Given the description of an element on the screen output the (x, y) to click on. 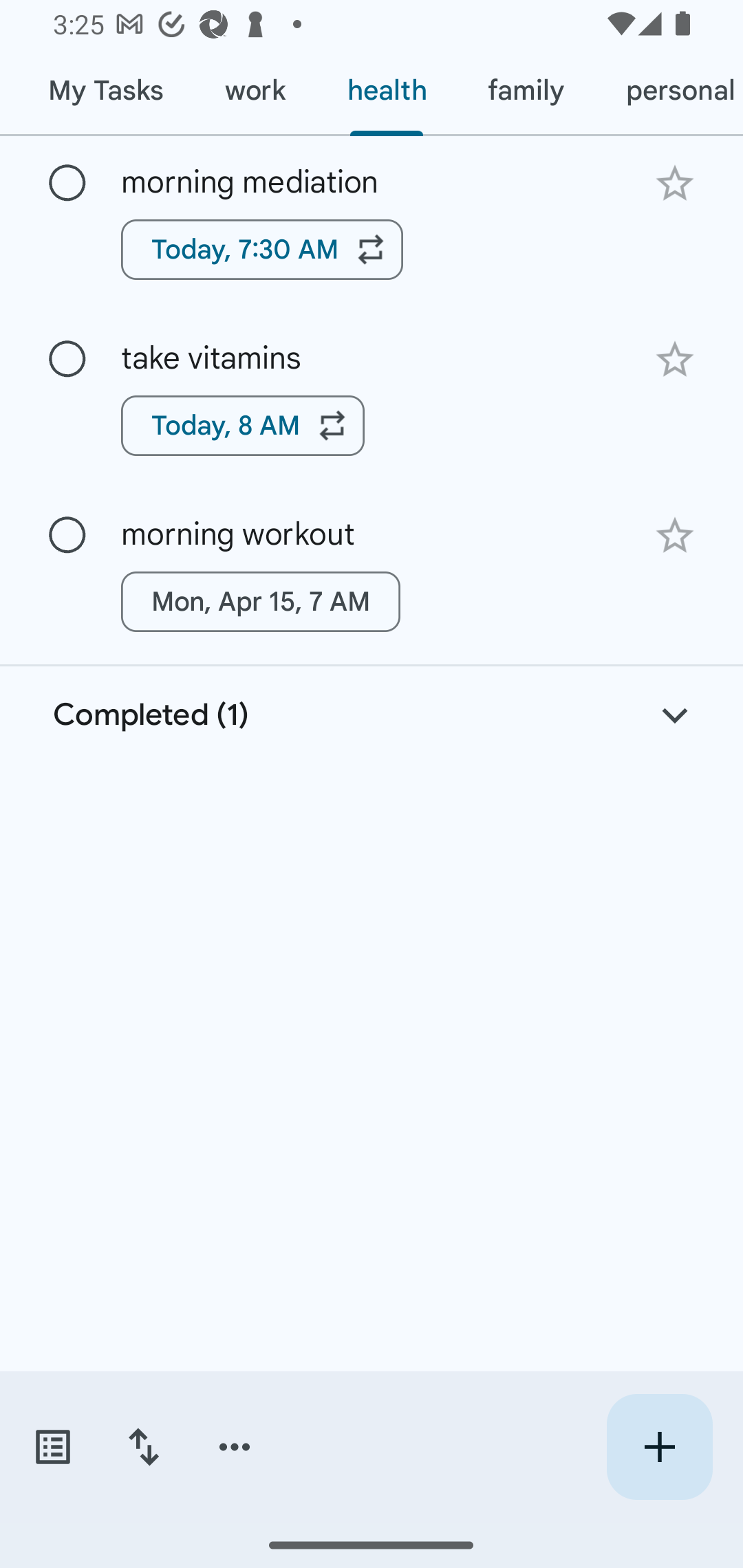
My Tasks (105, 90)
work (254, 90)
family (525, 90)
personal (669, 90)
Add star (674, 182)
Mark as complete (67, 183)
Today, 7:30 AM (262, 248)
Add star (674, 358)
Mark as complete (67, 359)
Today, 8 AM (242, 425)
Add star (674, 535)
Mark as complete (67, 535)
Mon, Apr 15, 7 AM (260, 601)
Completed (1) (371, 715)
Switch task lists (52, 1447)
Create new task (659, 1446)
Change sort order (143, 1446)
More options (234, 1446)
